Given the description of an element on the screen output the (x, y) to click on. 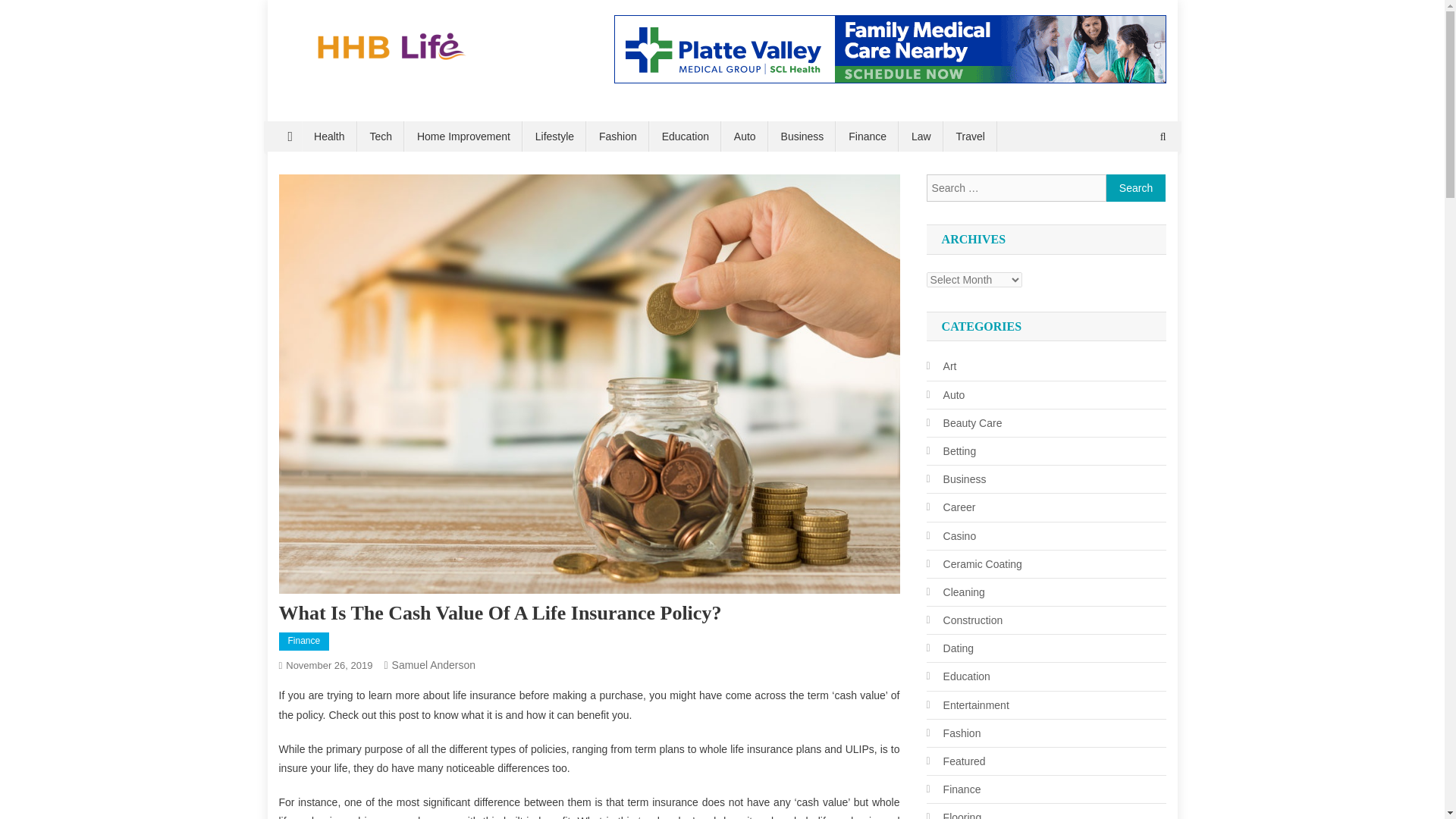
Search (1133, 186)
Auto (745, 136)
Samuel Anderson (433, 664)
Tech (380, 136)
Law (921, 136)
Finance (304, 641)
Lifestyle (554, 136)
Fashion (617, 136)
Finance (866, 136)
HHB Life (330, 79)
Search (1136, 187)
Education (684, 136)
Search (1136, 187)
Art (941, 365)
Home Improvement (463, 136)
